Given the description of an element on the screen output the (x, y) to click on. 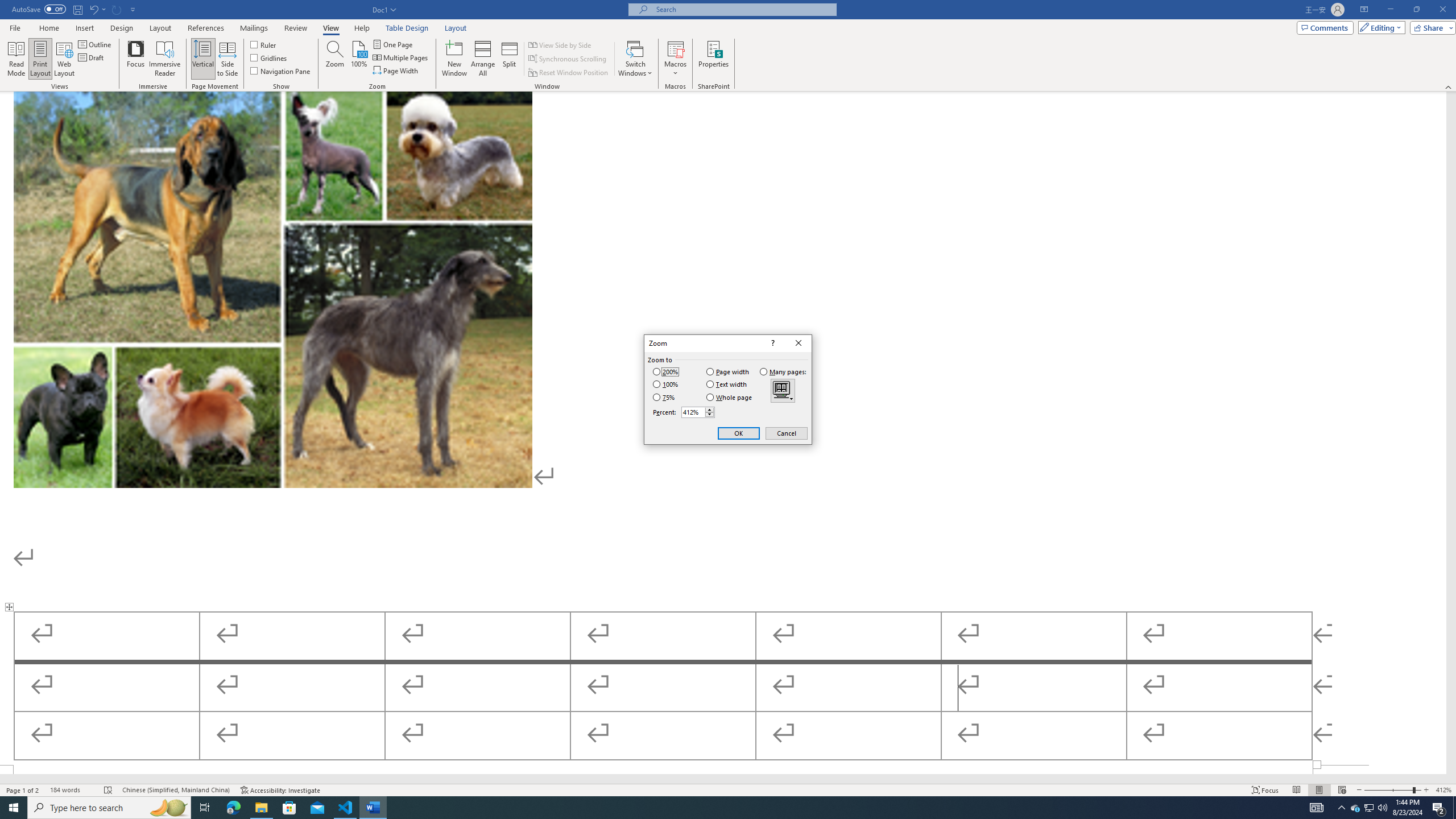
Immersive Reader (165, 58)
View Side by Side (561, 44)
Undo Row Height Spinner (92, 9)
Zoom 412% (1443, 790)
Word Count 184 words (71, 790)
100% (665, 383)
Many pages: (784, 371)
File Explorer - 1 running window (261, 807)
New Window (454, 58)
Running applications (717, 807)
